Given the description of an element on the screen output the (x, y) to click on. 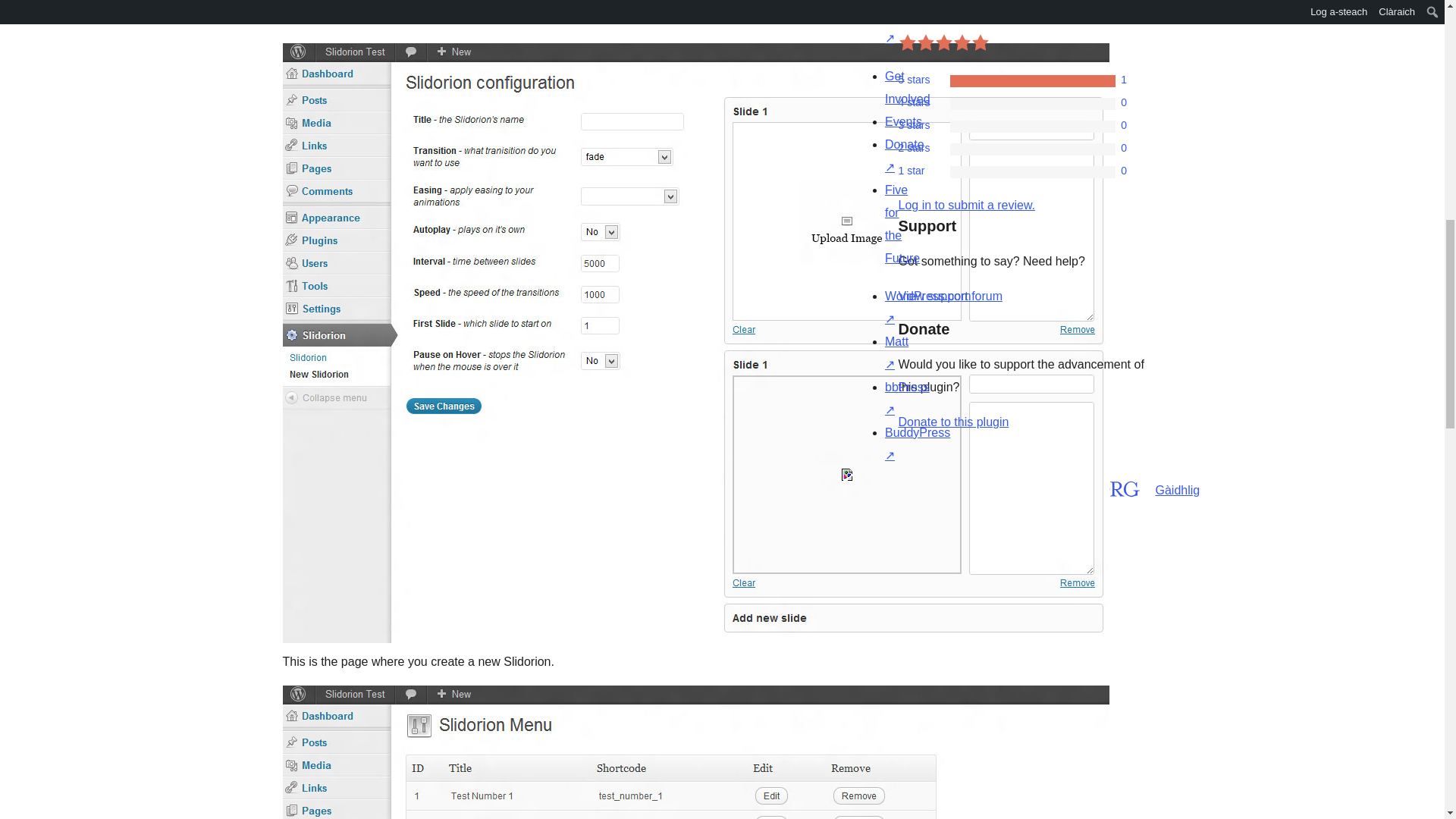
Log in to WordPress.org (966, 205)
WordPress.org (864, 486)
WordPress.org (1014, 486)
